Given the description of an element on the screen output the (x, y) to click on. 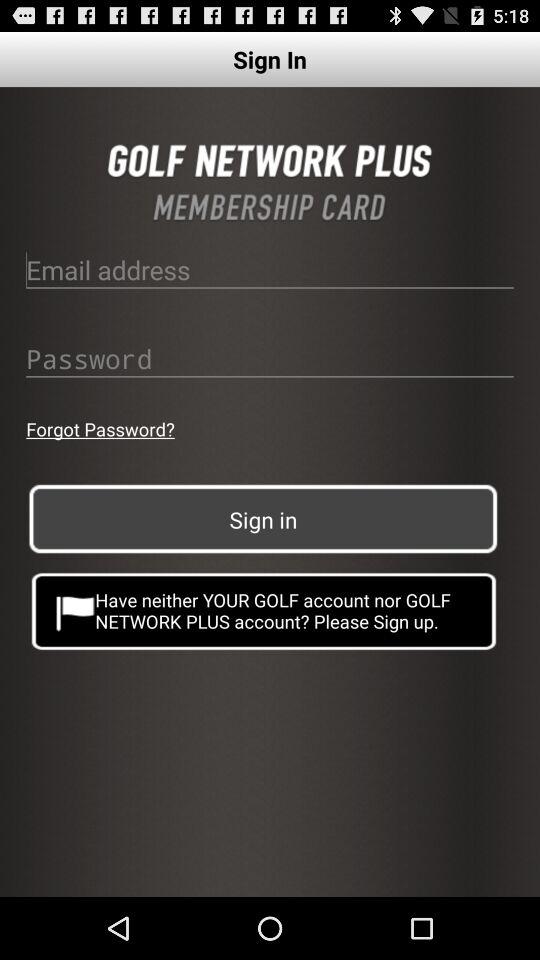
choose app on the left (100, 428)
